Given the description of an element on the screen output the (x, y) to click on. 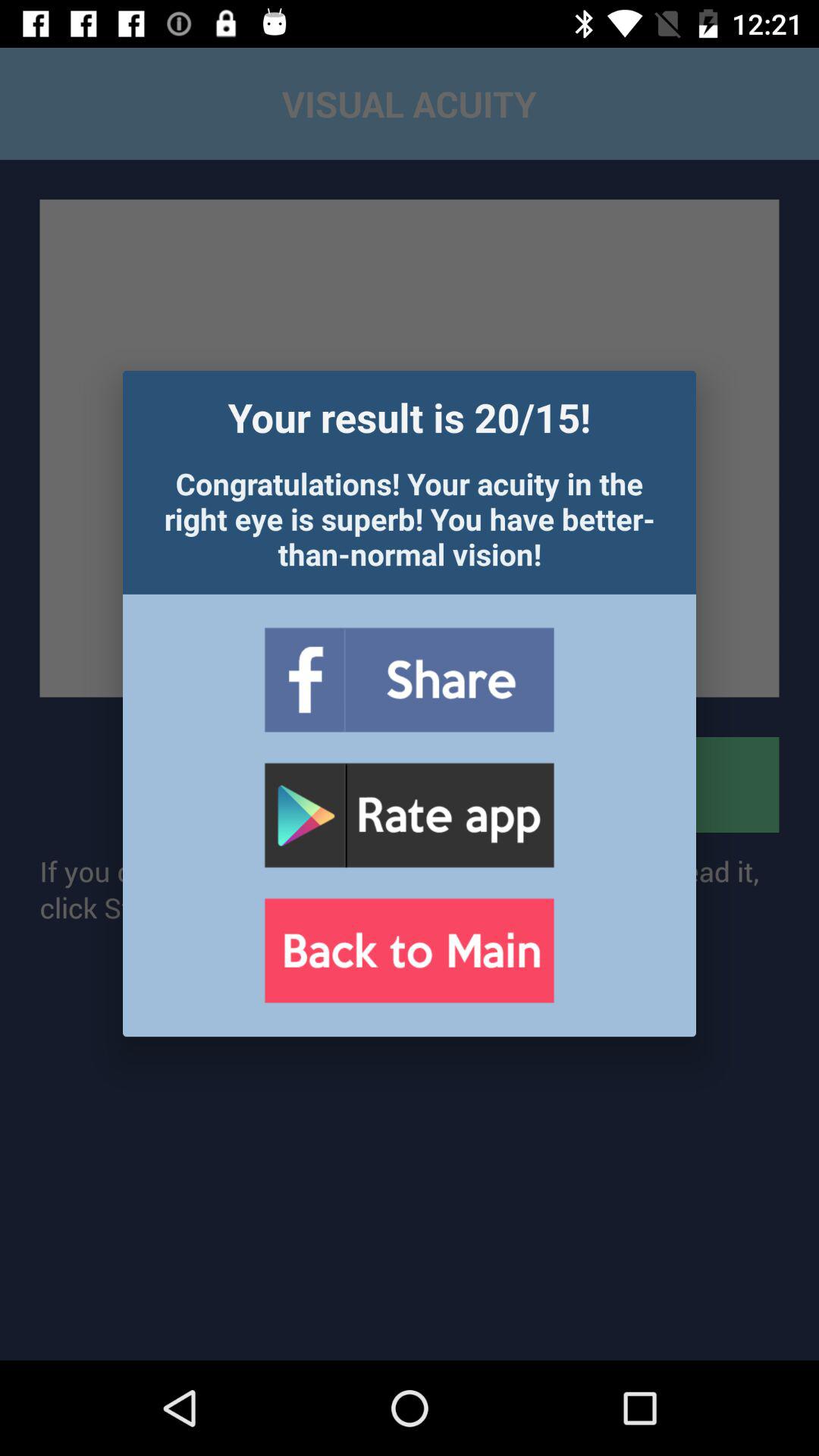
back to main menu button (408, 950)
